Given the description of an element on the screen output the (x, y) to click on. 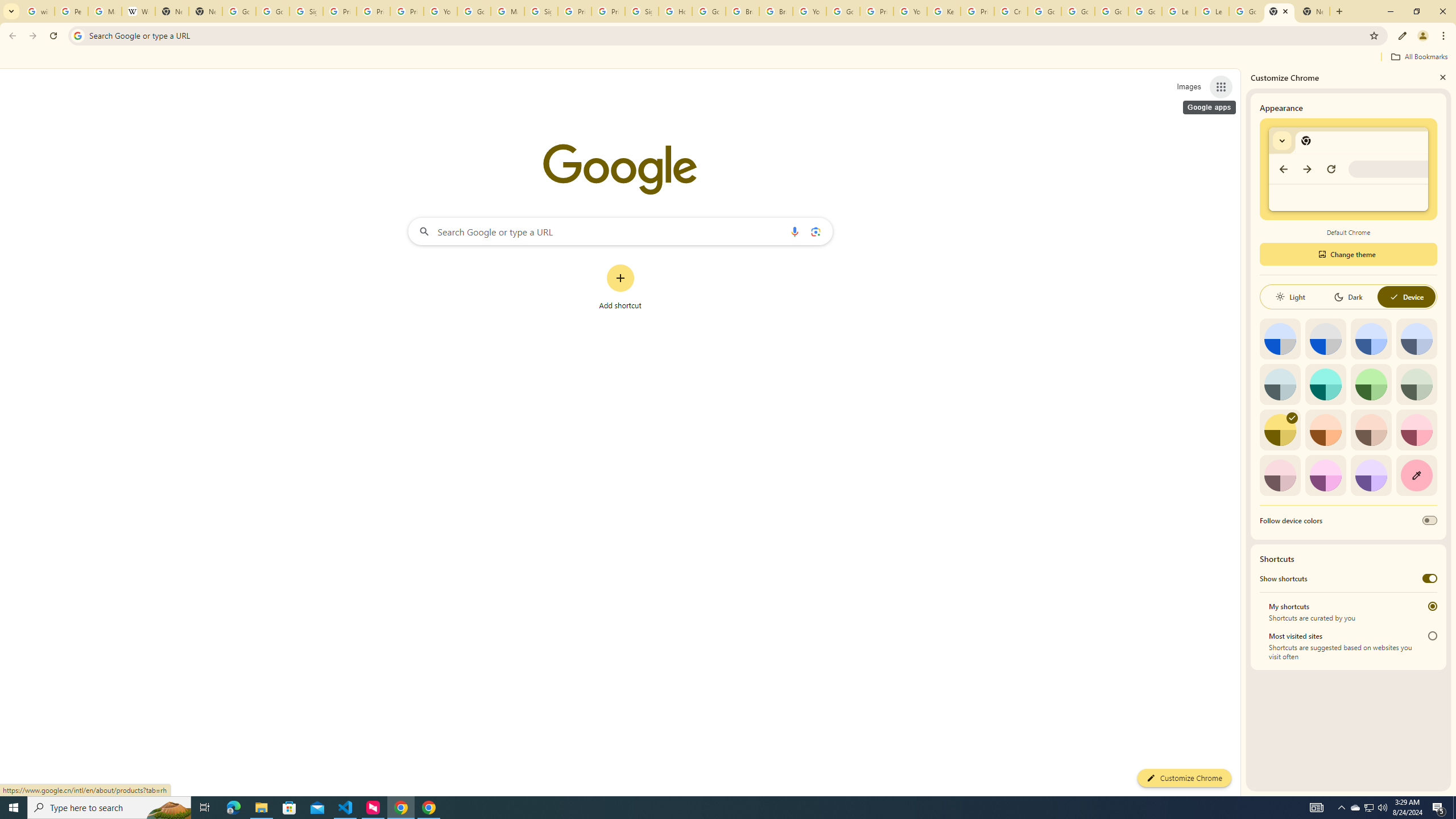
Google Account Help (474, 11)
Search for Images  (1188, 87)
My shortcuts (1432, 605)
Light (1289, 296)
Aqua (1325, 383)
Customize Chrome (1402, 35)
Wikipedia:Edit requests - Wikipedia (138, 11)
